Given the description of an element on the screen output the (x, y) to click on. 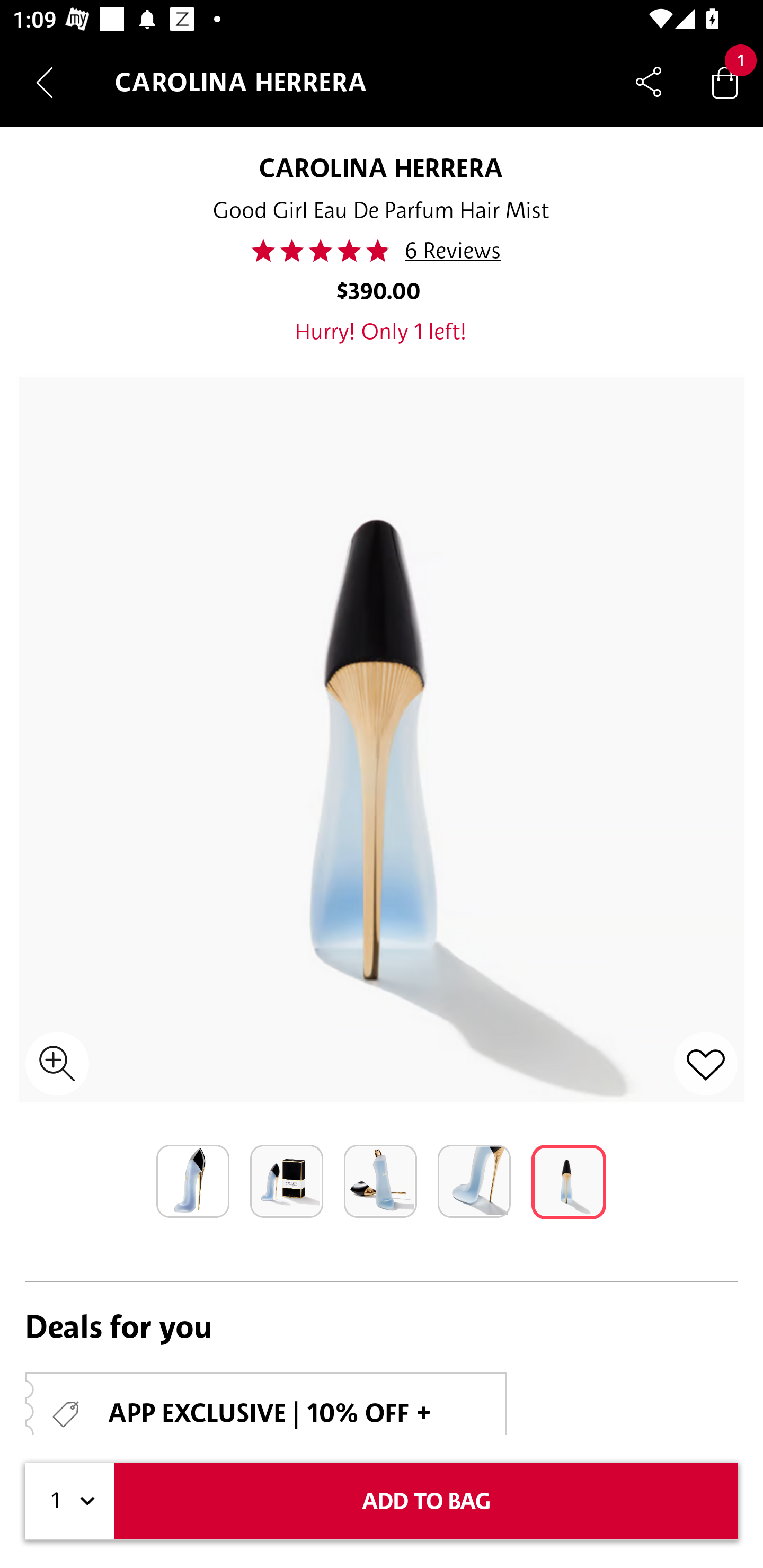
Navigate up (44, 82)
Share (648, 81)
Bag (724, 81)
CAROLINA HERRERA (381, 167)
48.0 6 Reviews (381, 250)
1 (69, 1500)
ADD TO BAG (425, 1500)
